Given the description of an element on the screen output the (x, y) to click on. 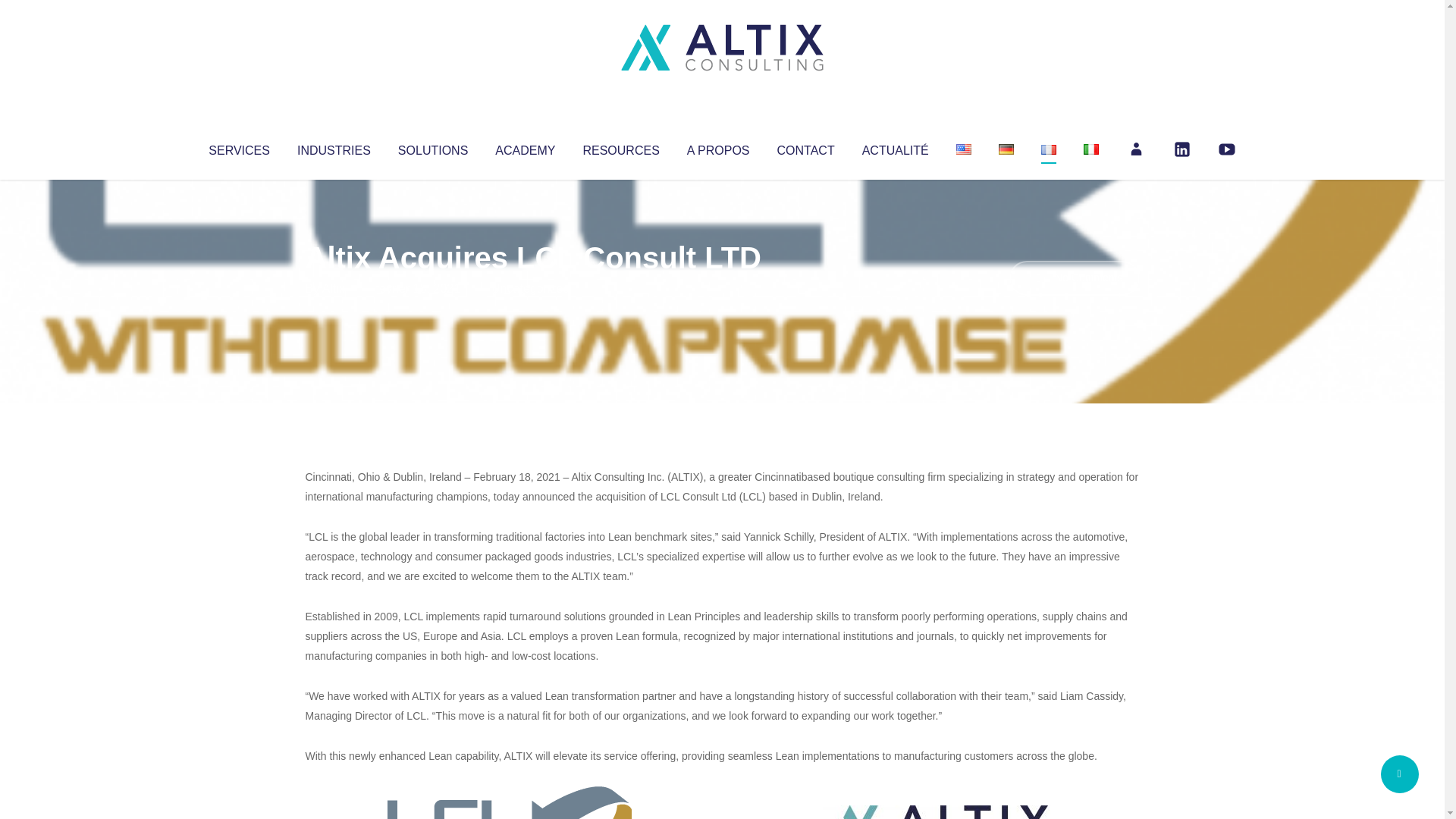
SERVICES (238, 146)
Uncategorized (530, 287)
ACADEMY (524, 146)
SOLUTIONS (432, 146)
A PROPOS (718, 146)
No Comments (1073, 278)
Articles par Altix (333, 287)
Altix (333, 287)
INDUSTRIES (334, 146)
RESOURCES (620, 146)
